Given the description of an element on the screen output the (x, y) to click on. 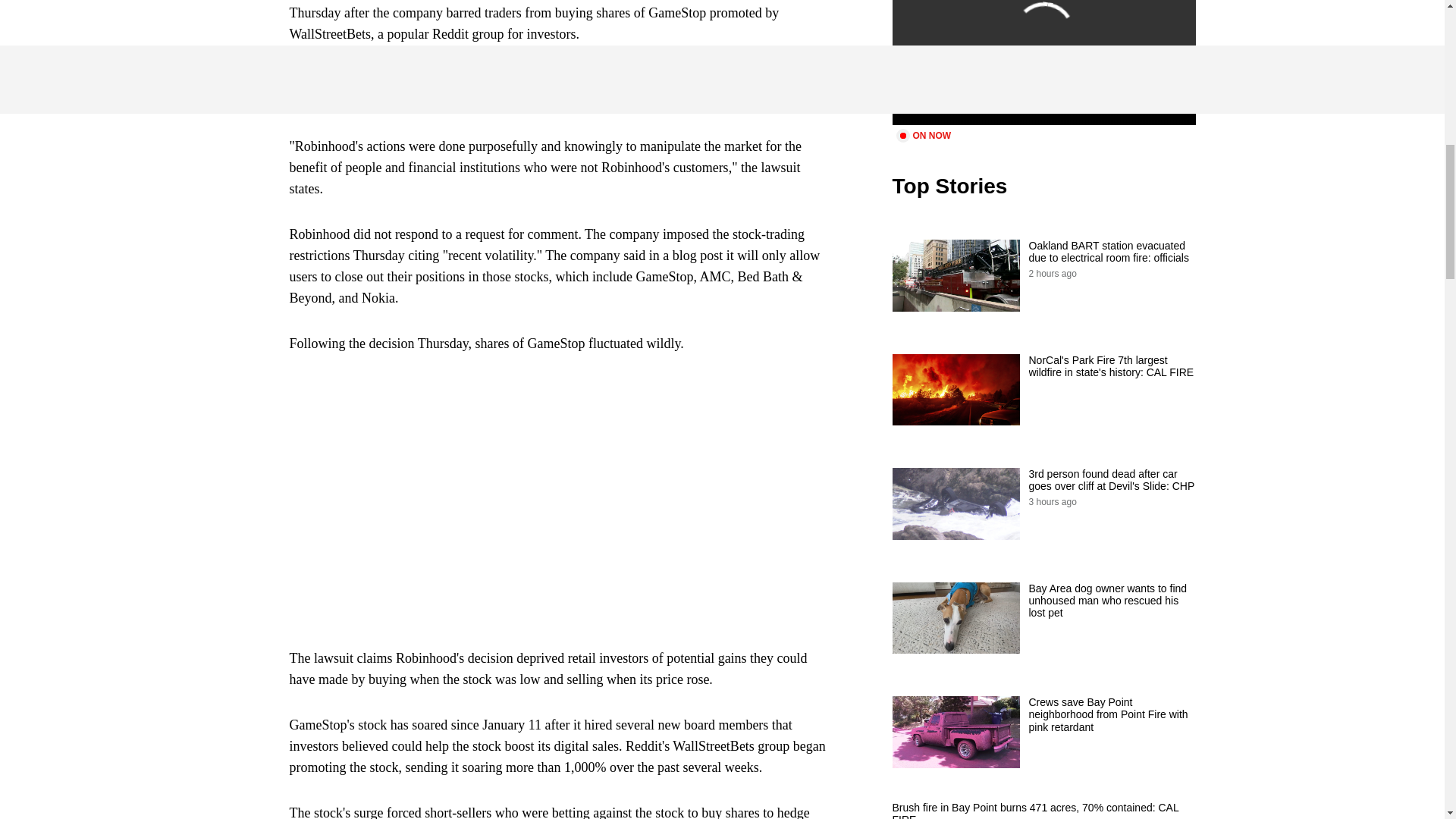
video.title (1043, 62)
